Given the description of an element on the screen output the (x, y) to click on. 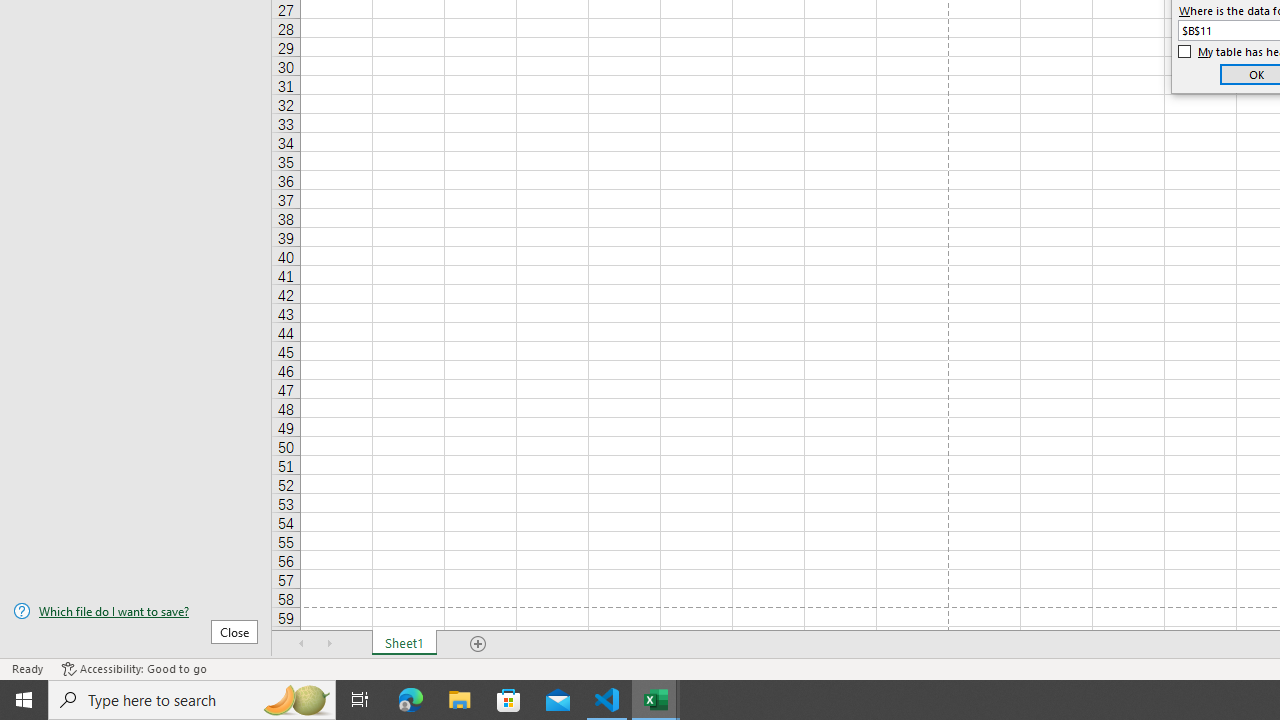
Add Sheet (478, 644)
Accessibility Checker Accessibility: Good to go (134, 668)
Scroll Right (330, 644)
Which file do I want to save? (136, 611)
Scroll Left (302, 644)
Sheet1 (404, 644)
